Given the description of an element on the screen output the (x, y) to click on. 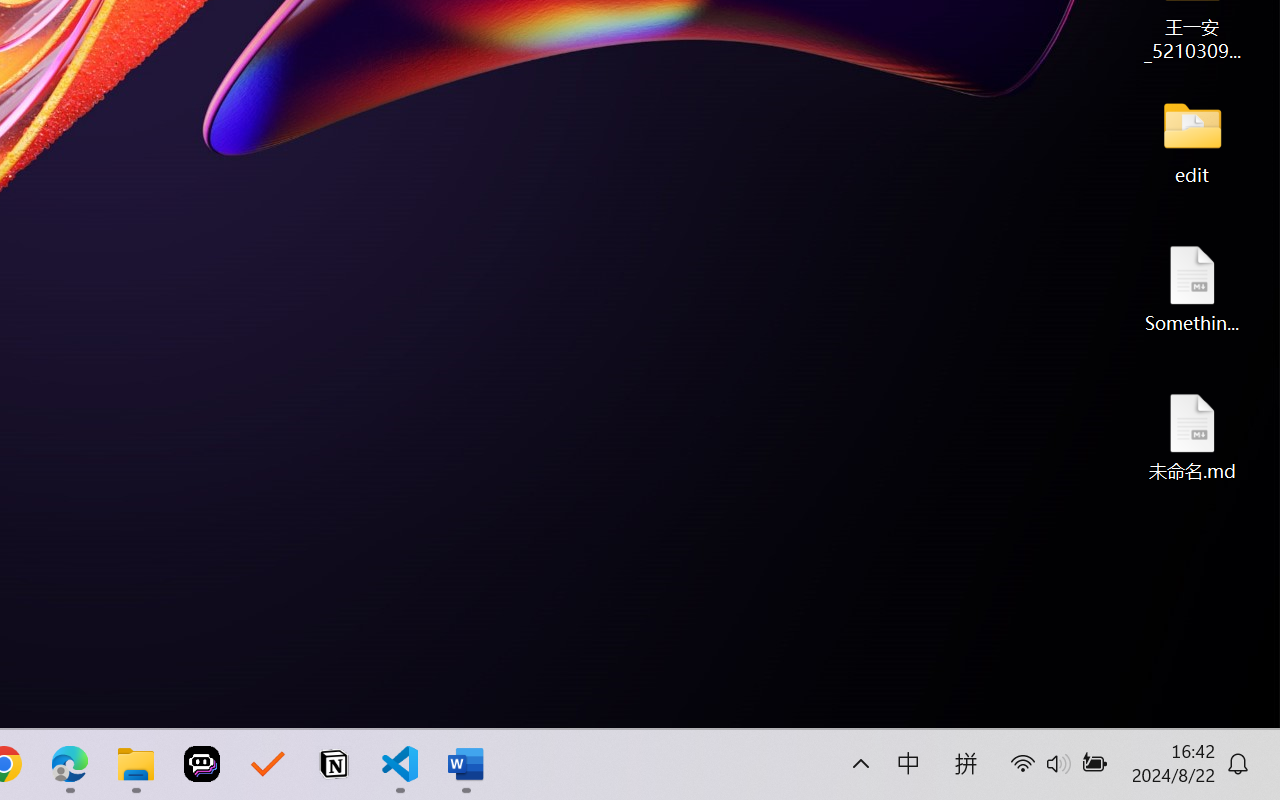
edit (1192, 140)
Something.md (1192, 288)
